Given the description of an element on the screen output the (x, y) to click on. 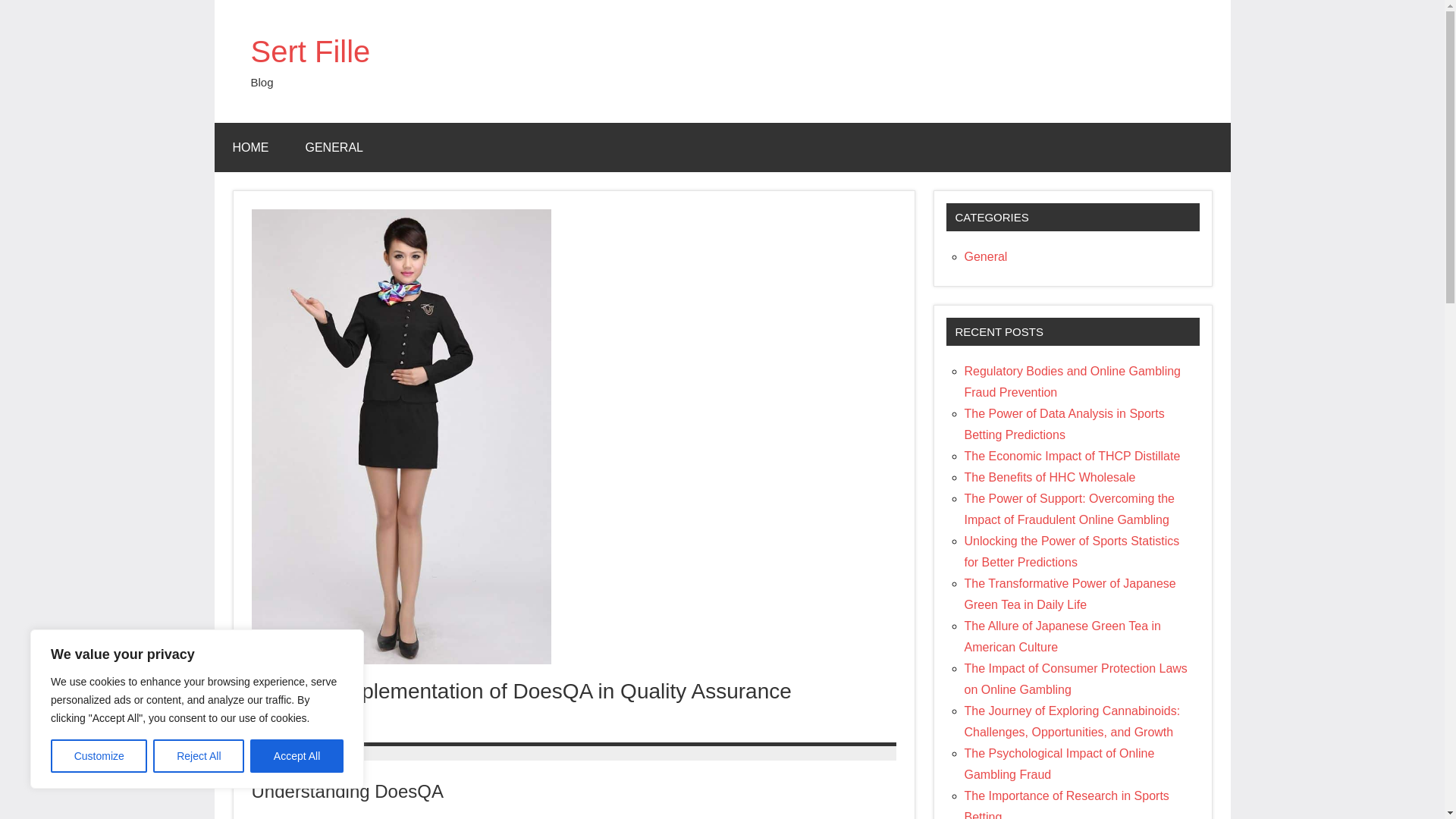
Reject All (198, 756)
The Impact of Consumer Protection Laws on Online Gambling (1075, 678)
Sert Fille (309, 51)
General (985, 256)
GENERAL (333, 146)
The Power of Data Analysis in Sports Betting Predictions (1063, 424)
The Allure of Japanese Green Tea in American Culture (1061, 636)
Accept All (296, 756)
Regulatory Bodies and Online Gambling Fraud Prevention (1071, 381)
HOME (250, 146)
Customize (98, 756)
The Transformative Power of Japanese Green Tea in Daily Life (1069, 593)
The Economic Impact of THCP Distillate (1071, 455)
